Given the description of an element on the screen output the (x, y) to click on. 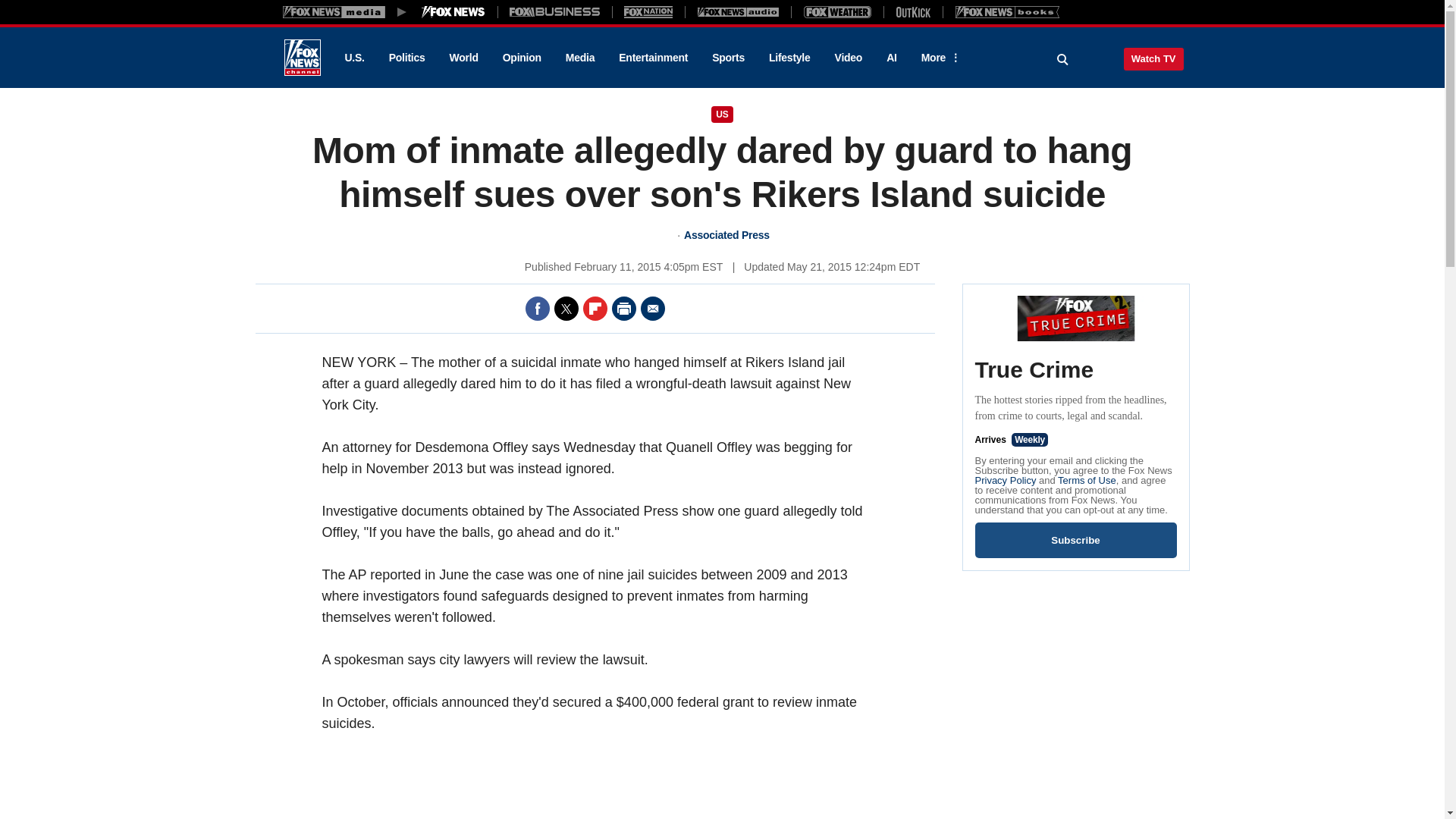
Opinion (521, 57)
Entertainment (653, 57)
Video (848, 57)
Sports (728, 57)
Outkick (912, 11)
World (464, 57)
More (938, 57)
Fox Business (554, 11)
Media (580, 57)
Books (1007, 11)
